Given the description of an element on the screen output the (x, y) to click on. 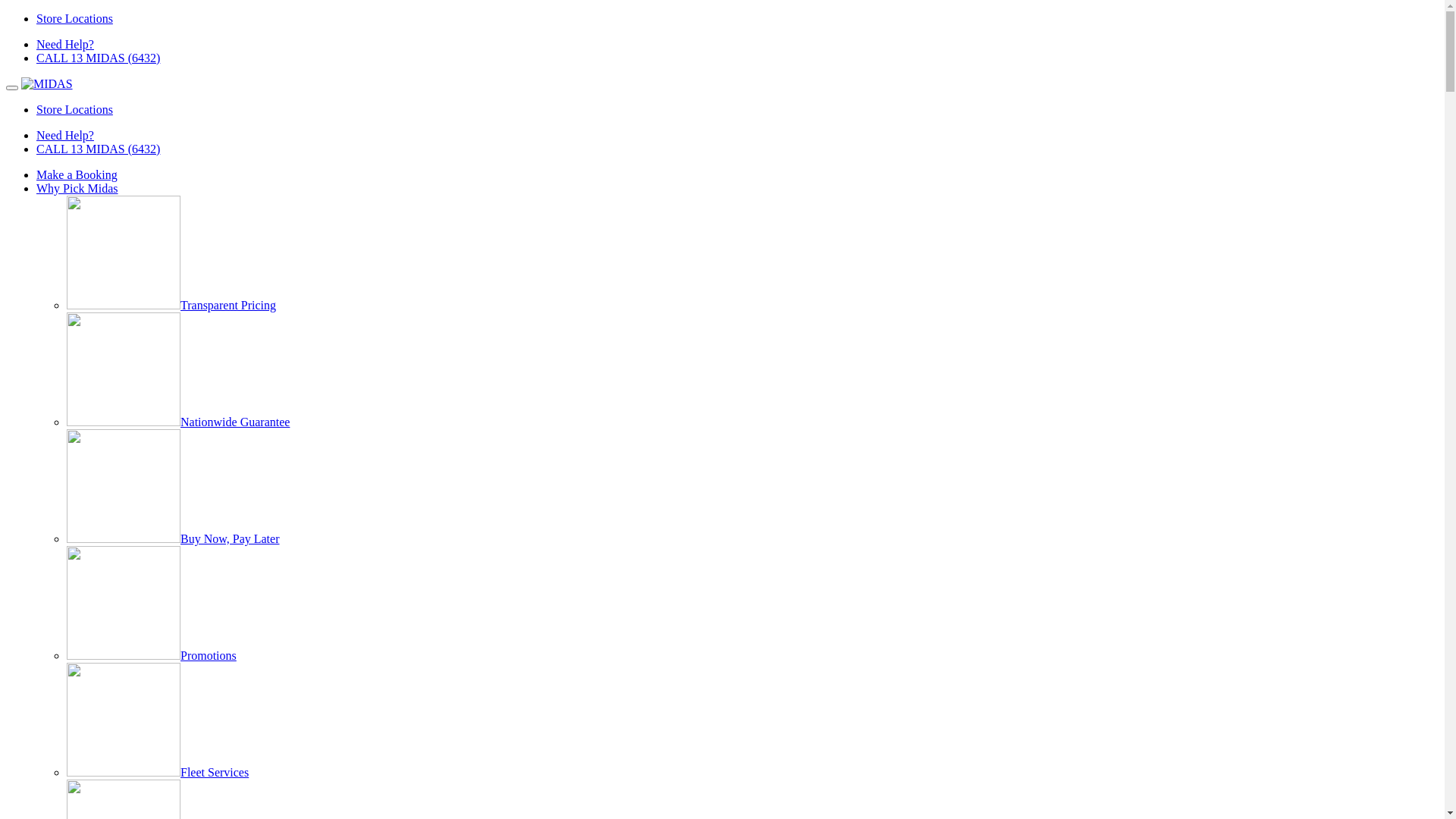
Need Help? Element type: text (65, 43)
Buy Now, Pay Later Element type: text (172, 538)
Nationwide Guarantee Element type: text (177, 421)
Transparent Pricing Element type: text (171, 304)
Promotions Element type: text (151, 655)
CALL 13 MIDAS (6432) Element type: text (98, 57)
Fleet Services Element type: text (157, 771)
Why Pick Midas Element type: text (77, 188)
Need Help? Element type: text (65, 134)
Store Locations Element type: text (74, 18)
Make a Booking Element type: text (76, 174)
Store Locations Element type: text (74, 109)
CALL 13 MIDAS (6432) Element type: text (98, 148)
